Given the description of an element on the screen output the (x, y) to click on. 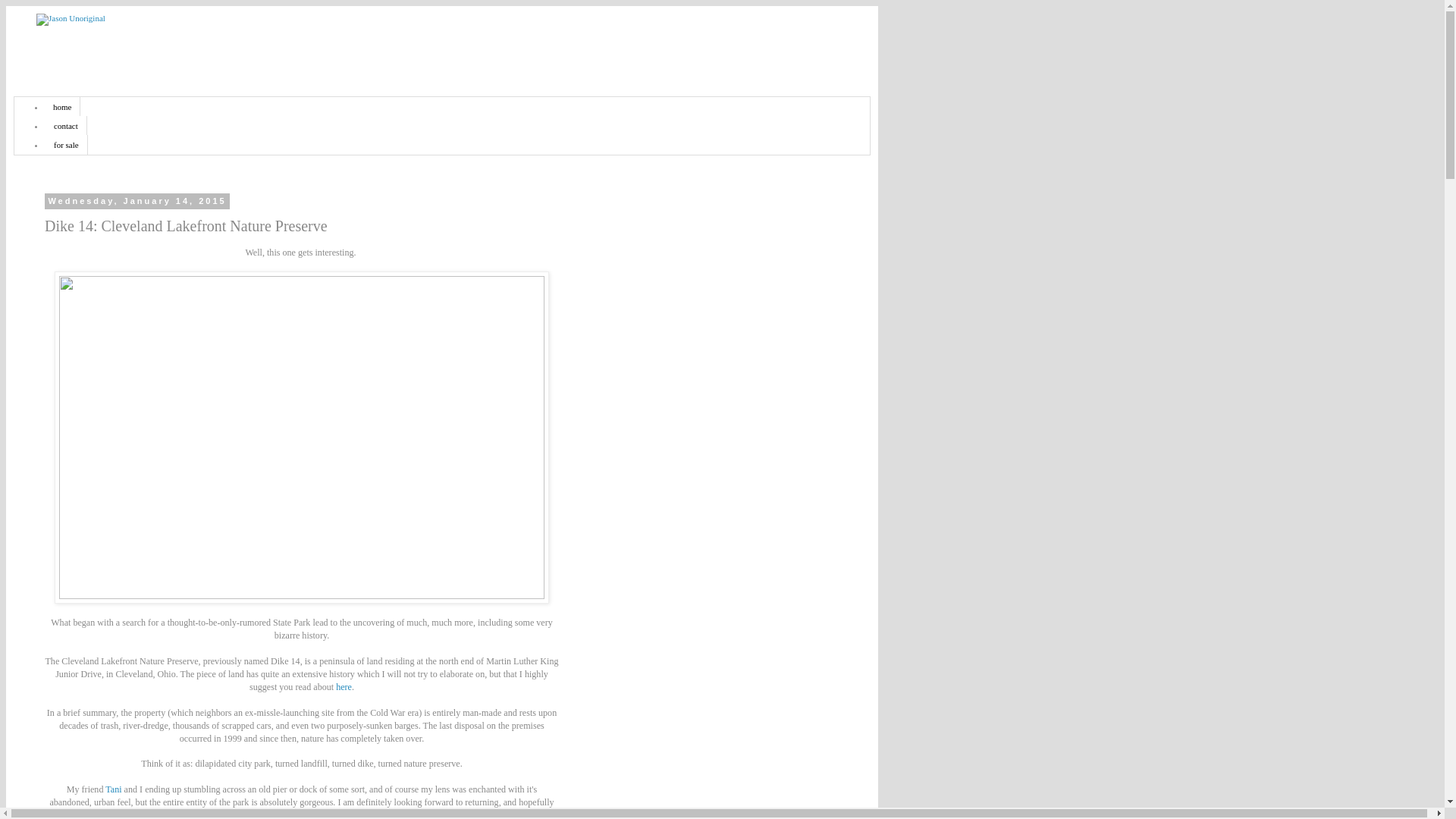
contact (66, 125)
for sale (66, 144)
home (62, 106)
Tani (112, 788)
here (344, 686)
